Given the description of an element on the screen output the (x, y) to click on. 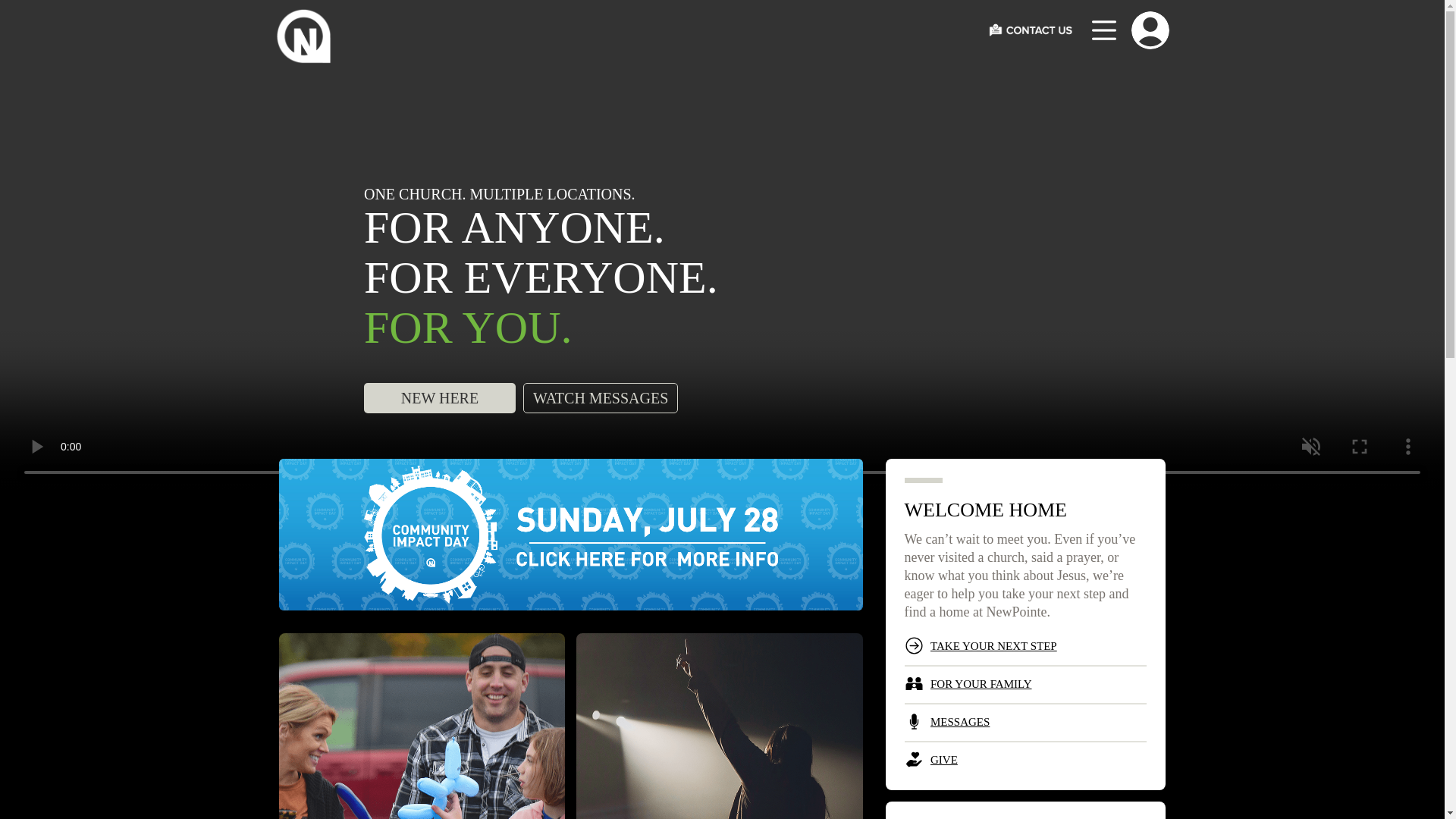
NEW HERE (439, 398)
WATCH MESSAGES (600, 398)
